Given the description of an element on the screen output the (x, y) to click on. 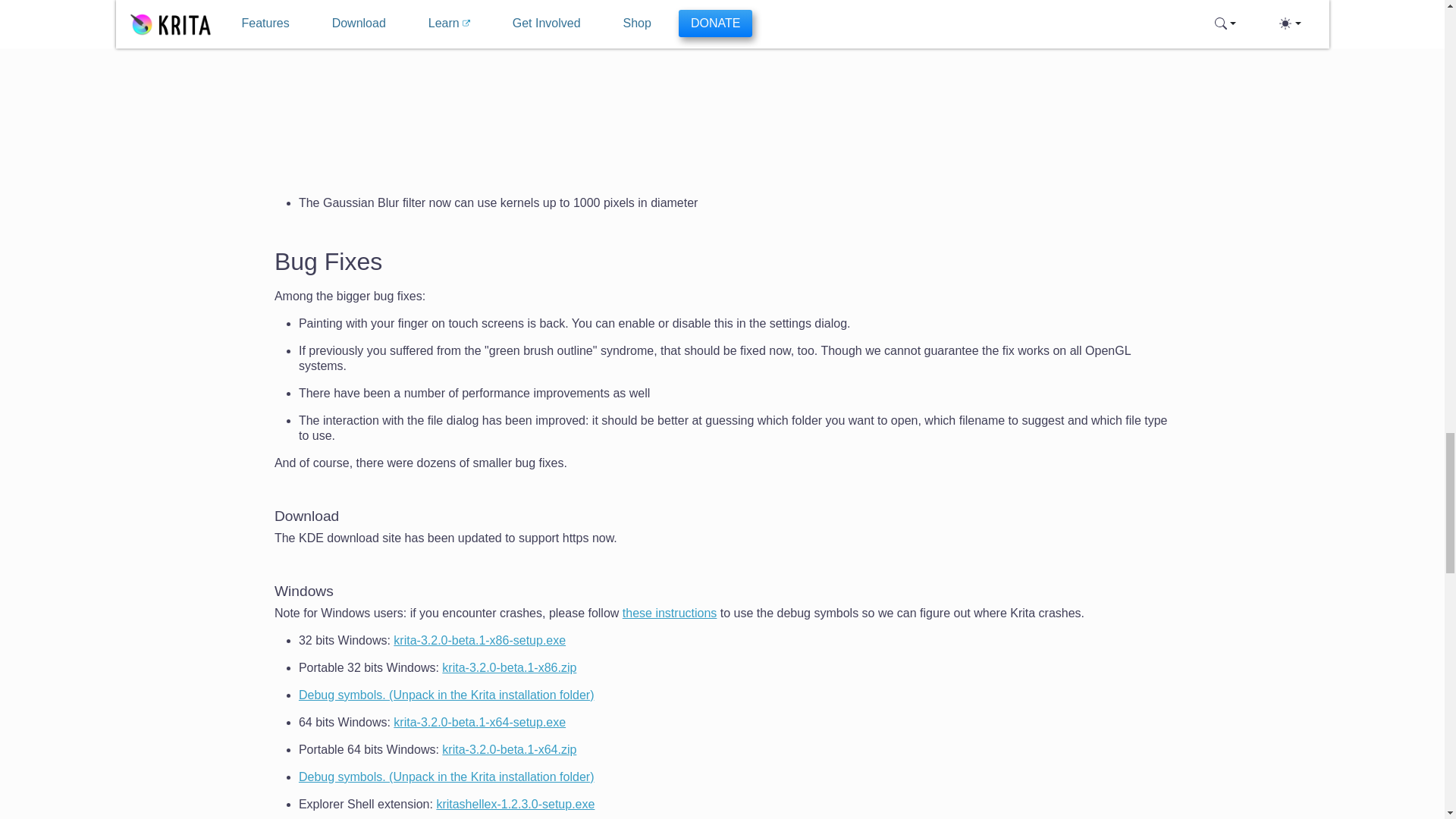
krita-3.2.0-beta.1-x86.zip (509, 667)
kritashellex-1.2.3.0-setup.exe (514, 803)
krita-3.2.0-beta.1-x86-setup.exe (479, 640)
krita-3.2.0-beta.1-x64.zip (509, 748)
krita-3.2.0-beta.1-x64-setup.exe (479, 721)
these instructions (670, 612)
